Given the description of an element on the screen output the (x, y) to click on. 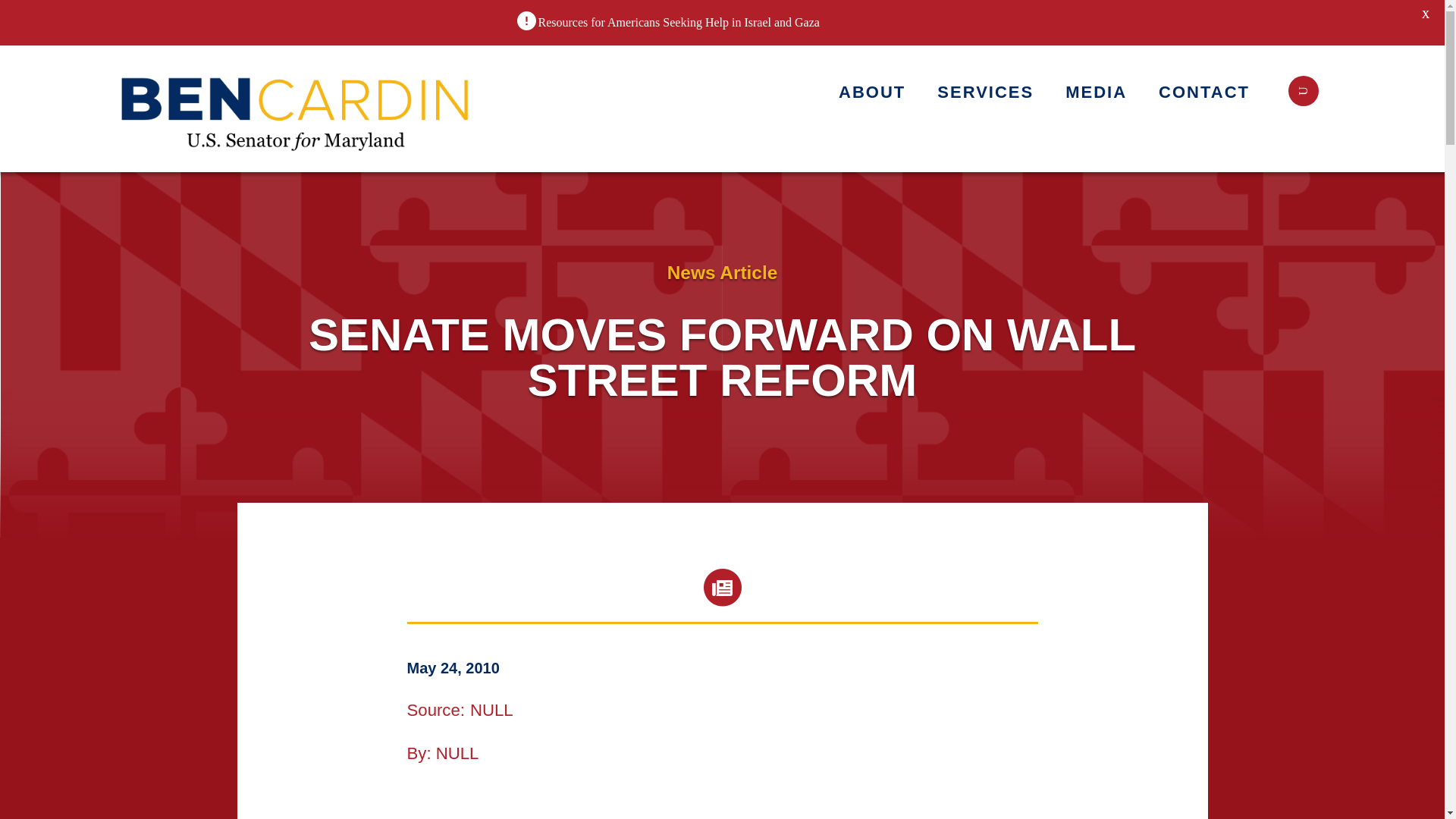
News Icon (722, 587)
Large-Inner (296, 108)
